Given the description of an element on the screen output the (x, y) to click on. 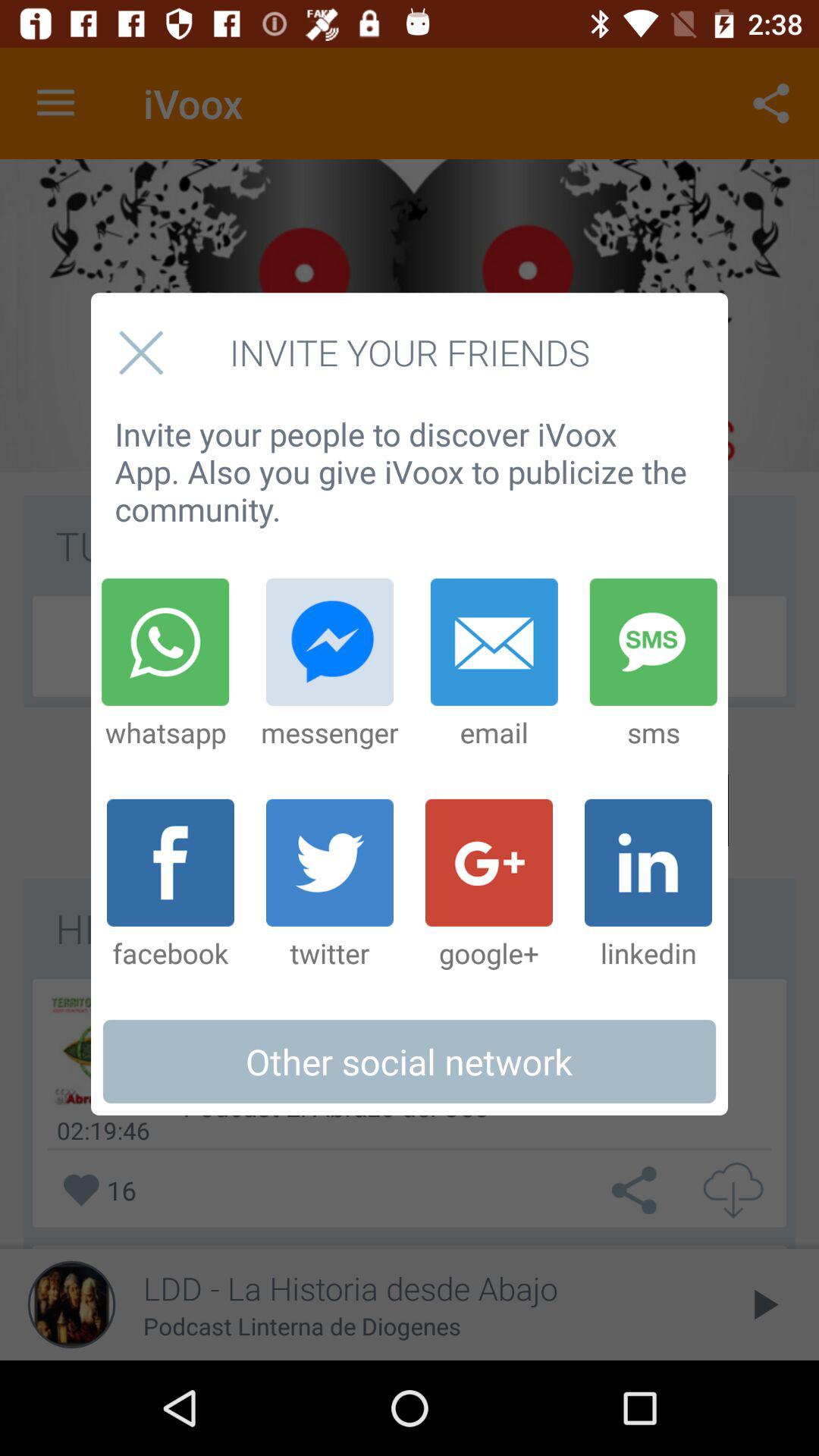
select the icon next to sms item (493, 664)
